Given the description of an element on the screen output the (x, y) to click on. 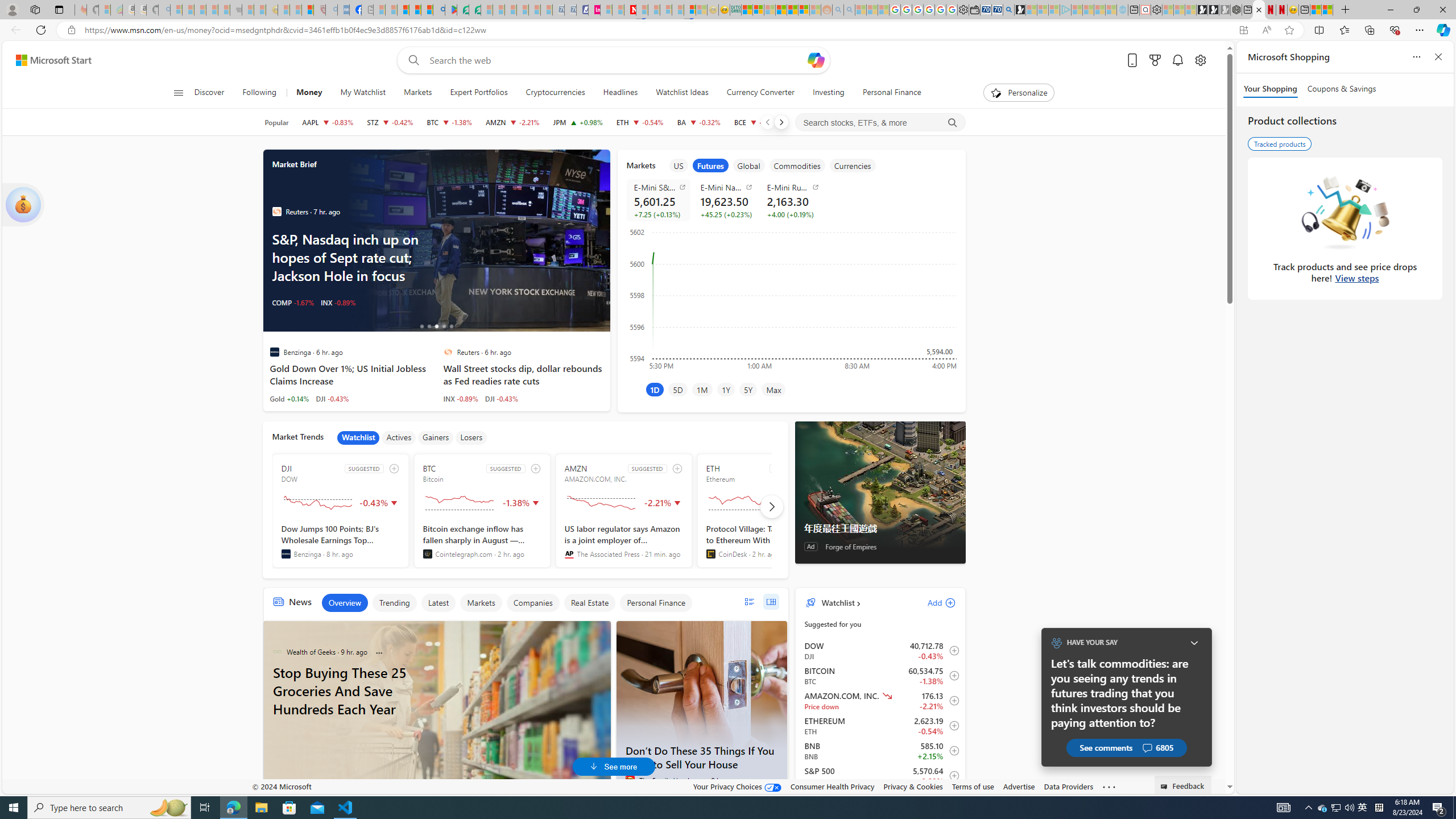
Benzinga (286, 553)
Cryptocurrencies (555, 92)
Next (780, 122)
Overview (344, 602)
item1 (678, 164)
CoinDesk (710, 553)
My Watchlist (362, 92)
INX -0.89% (460, 397)
Watchlist (358, 437)
